Given the description of an element on the screen output the (x, y) to click on. 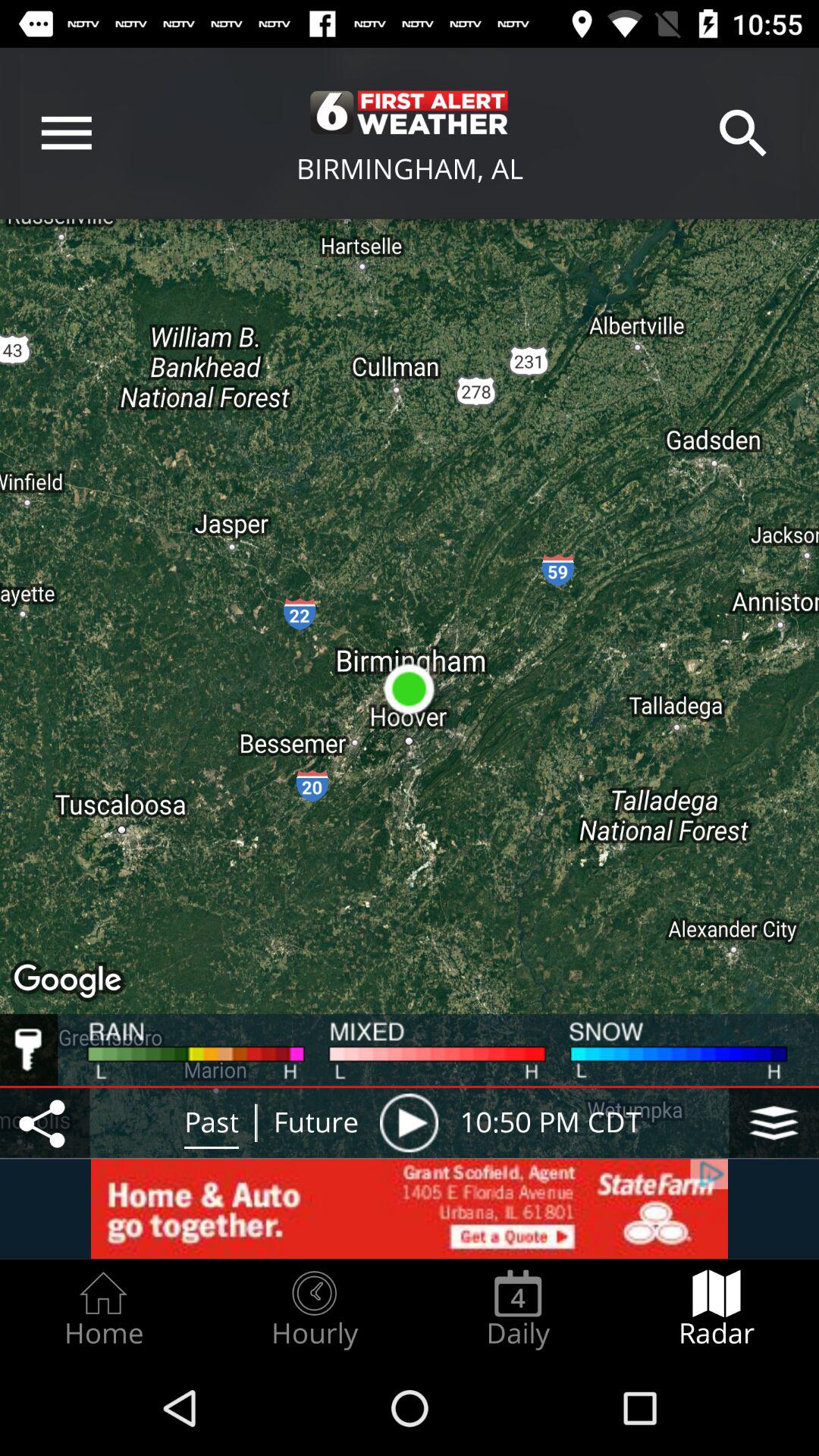
tap item next to the daily icon (314, 1309)
